Given the description of an element on the screen output the (x, y) to click on. 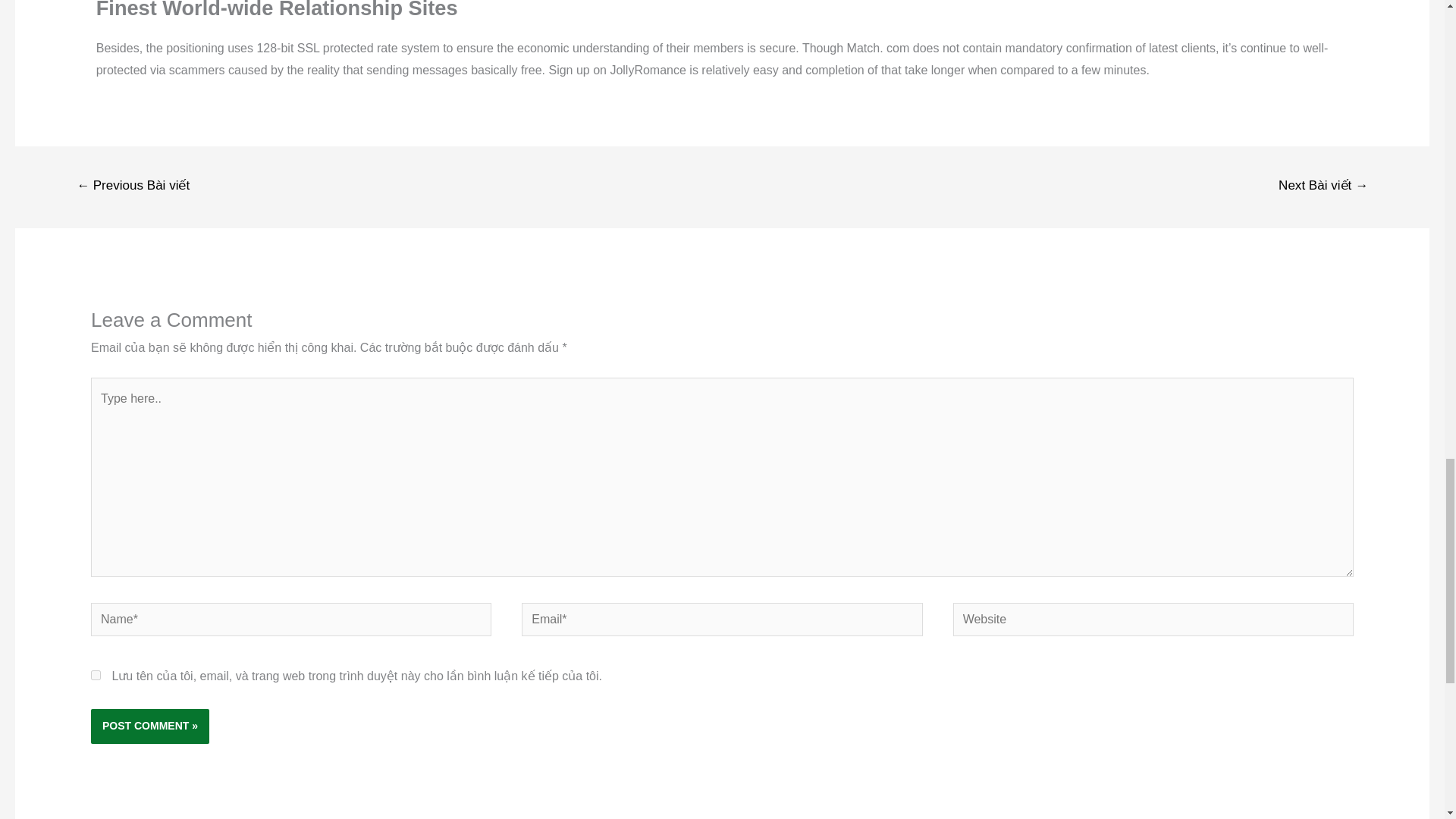
yes (95, 675)
